Given the description of an element on the screen output the (x, y) to click on. 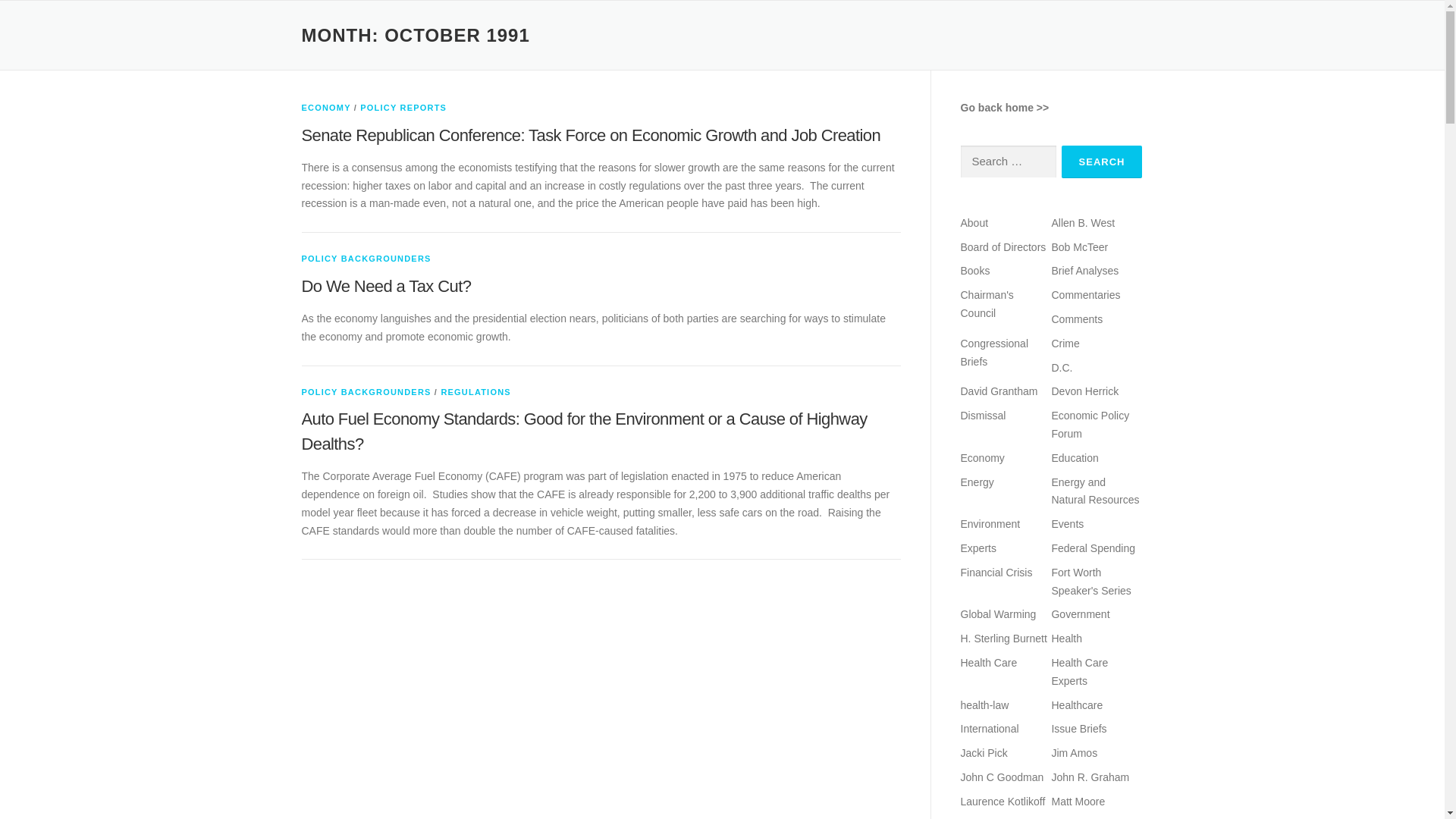
Search (1101, 161)
POLICY BACKGROUNDERS (365, 257)
Bob McTeer (1079, 246)
Board of Directors (1002, 246)
Books (974, 270)
REGULATIONS (476, 391)
POLICY REPORTS (402, 107)
Allen B. West (1083, 223)
ECONOMY (325, 107)
